Given the description of an element on the screen output the (x, y) to click on. 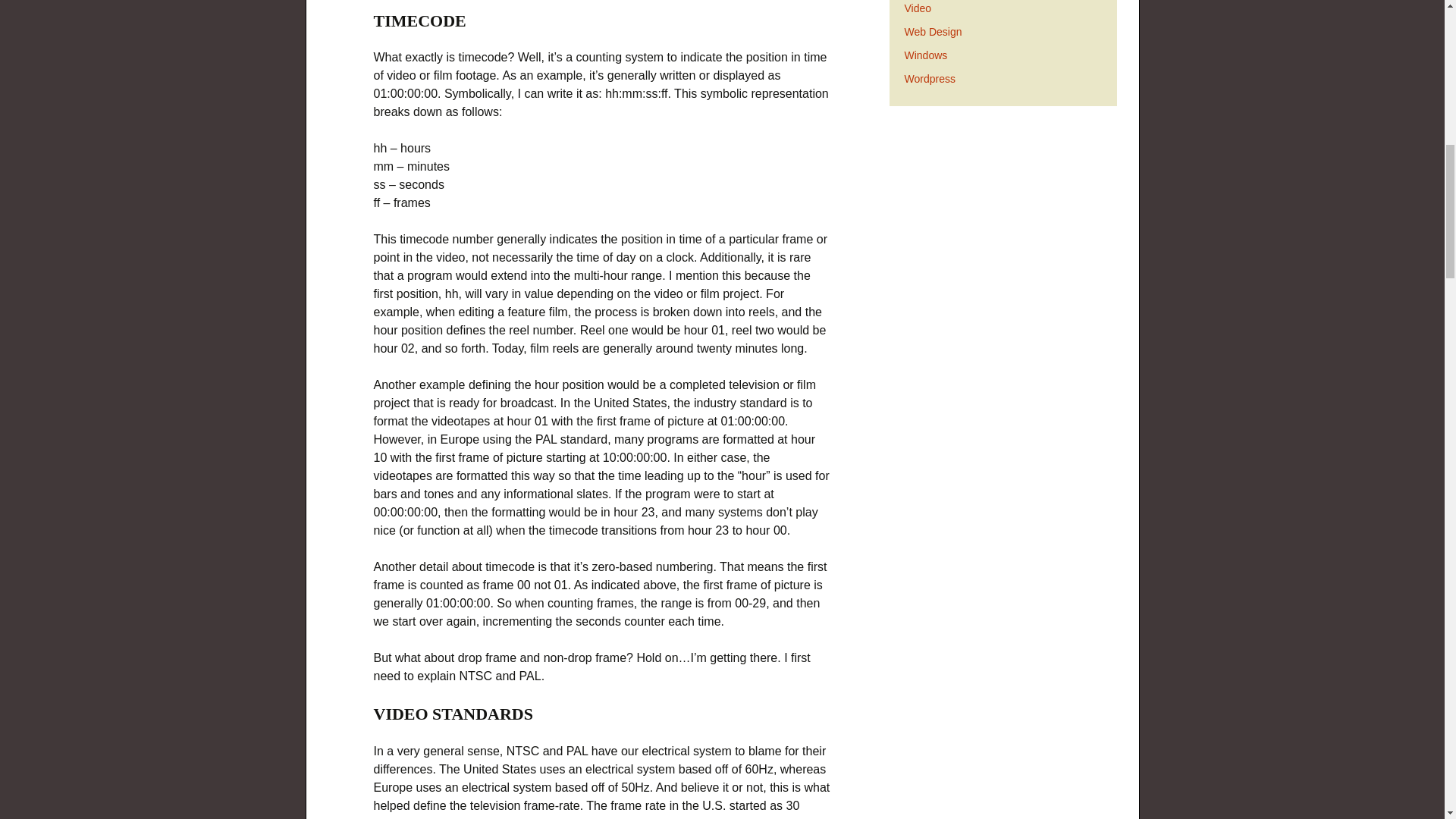
Video (917, 8)
Windows (925, 55)
Web Design (932, 31)
Wordpress (929, 78)
